Given the description of an element on the screen output the (x, y) to click on. 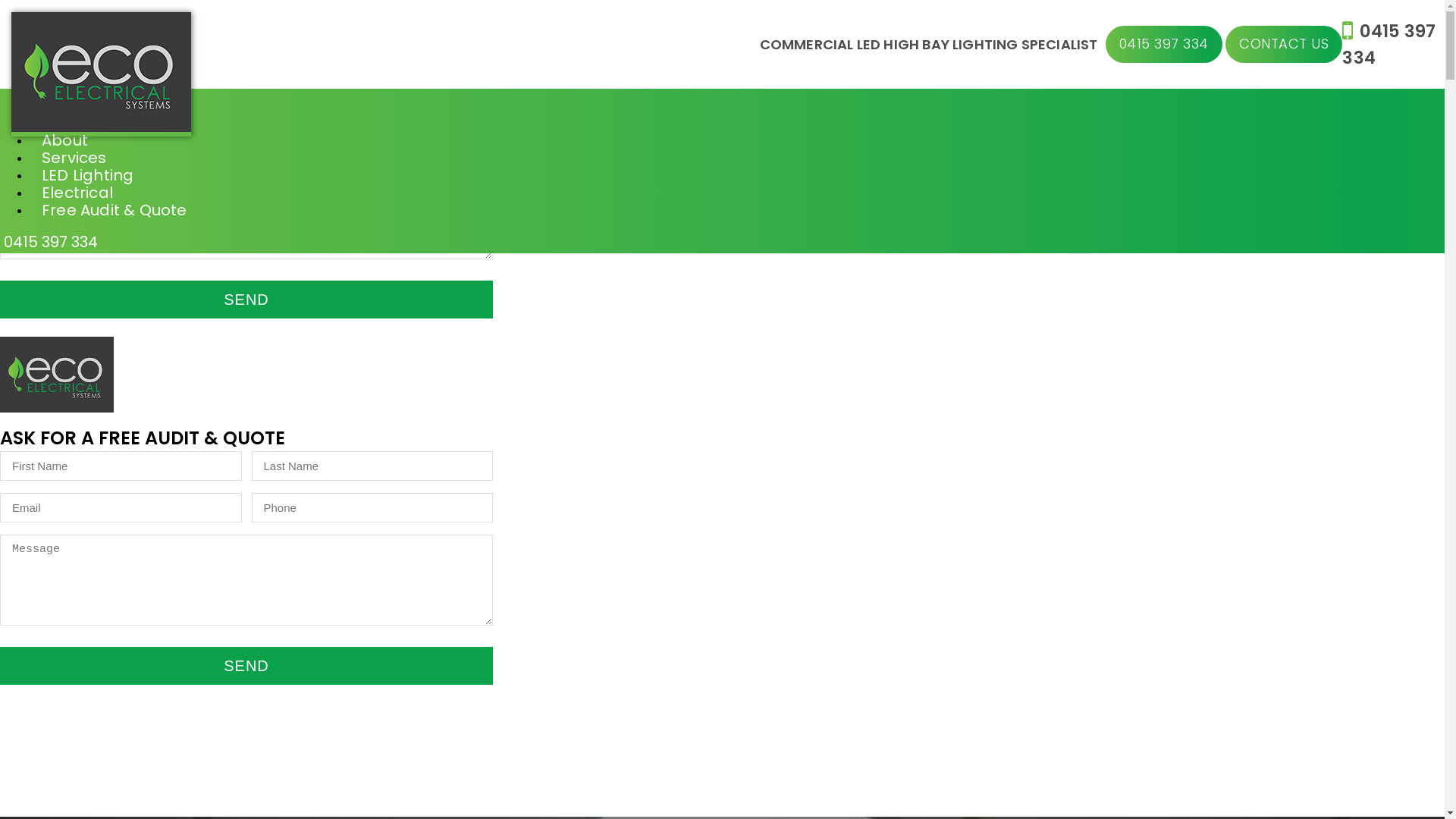
Send Element type: text (246, 299)
0415 397 334 Element type: text (50, 241)
Free Audit & Quote Element type: text (114, 209)
Electrical Element type: text (77, 192)
Services Element type: text (74, 157)
0415 397 334 Element type: text (1388, 43)
0415 397 334 Element type: text (1163, 44)
LED Lighting Element type: text (87, 174)
Send Element type: text (246, 665)
CONTACT US Element type: text (1283, 44)
Home Element type: text (65, 122)
About Element type: text (64, 140)
